Given the description of an element on the screen output the (x, y) to click on. 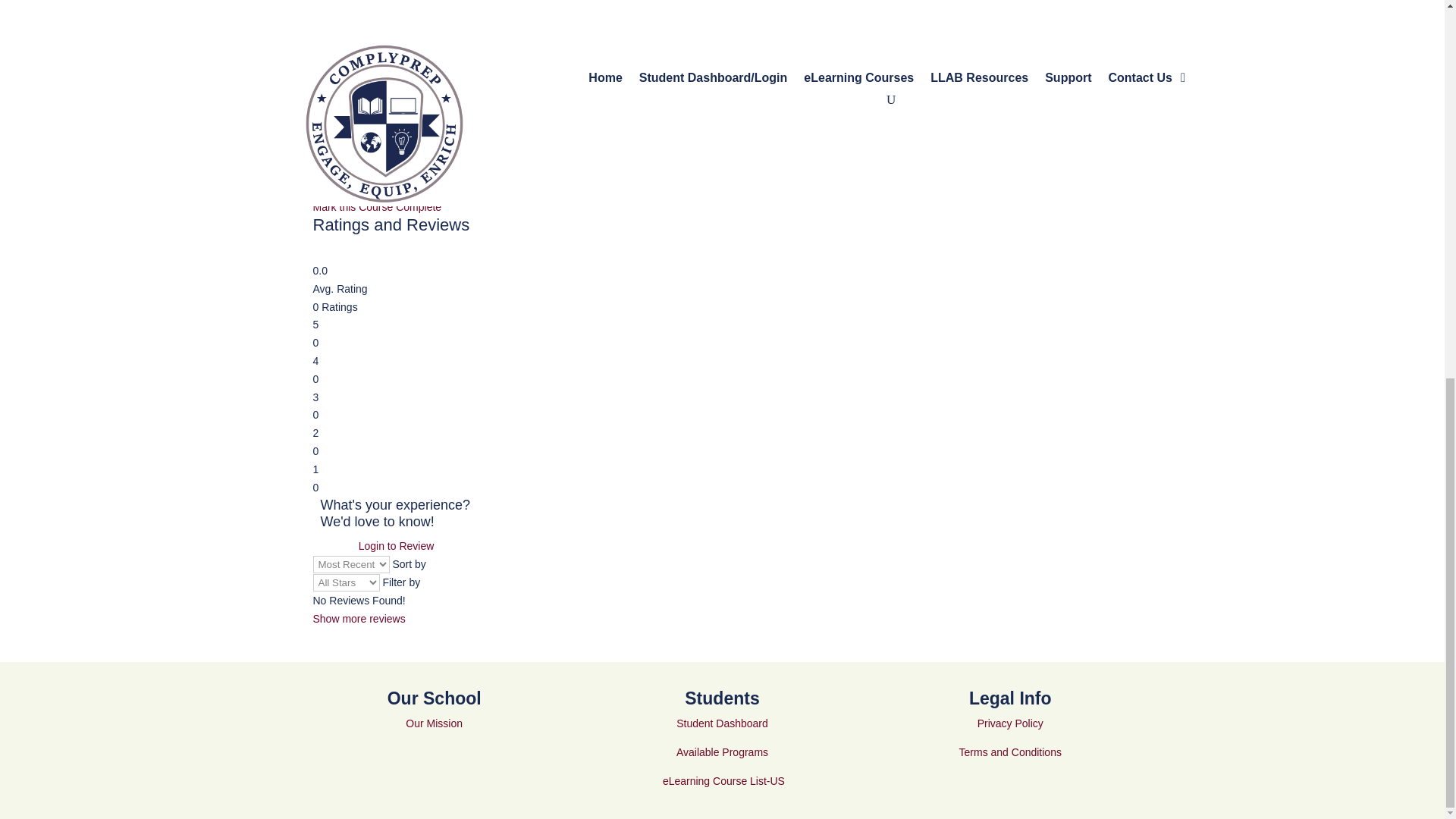
Our Mission (434, 723)
Show more reviews (358, 618)
Privacy Policy (1009, 723)
Student Dashboard (722, 723)
Terms and Conditions (1010, 752)
Mark this Course Complete (722, 198)
eLearning Course List-US (723, 780)
Login to Review (395, 546)
0 (322, 252)
Available Programs (722, 752)
